Given the description of an element on the screen output the (x, y) to click on. 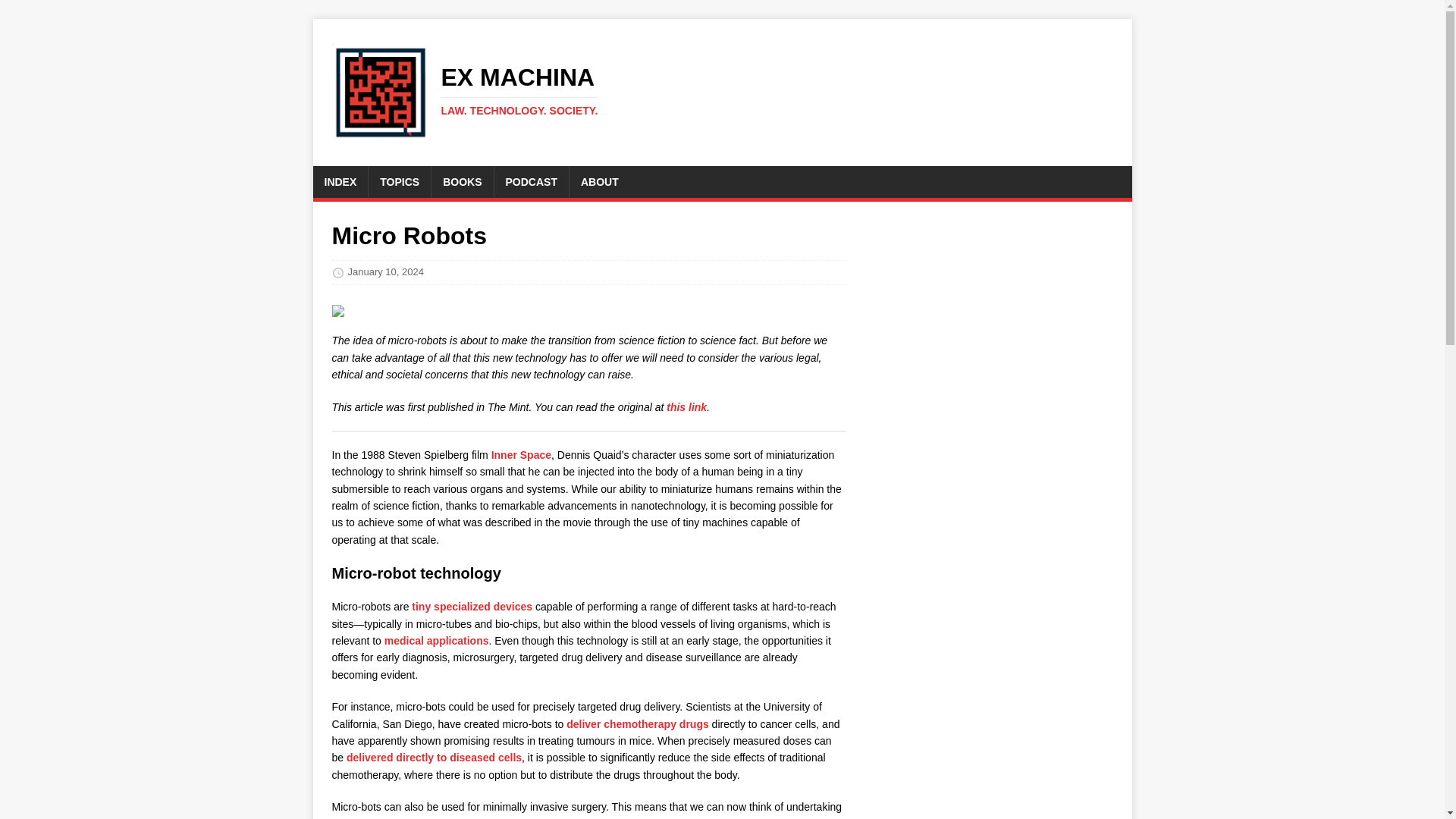
Ex Machina (470, 92)
this link (686, 406)
Inner Space (470, 92)
BOOKS (521, 454)
tiny specialized devices (461, 182)
PODCAST (472, 606)
delivered directly to diseased cells (532, 182)
deliver chemotherapy drugs (433, 757)
medical applications (637, 724)
